Given the description of an element on the screen output the (x, y) to click on. 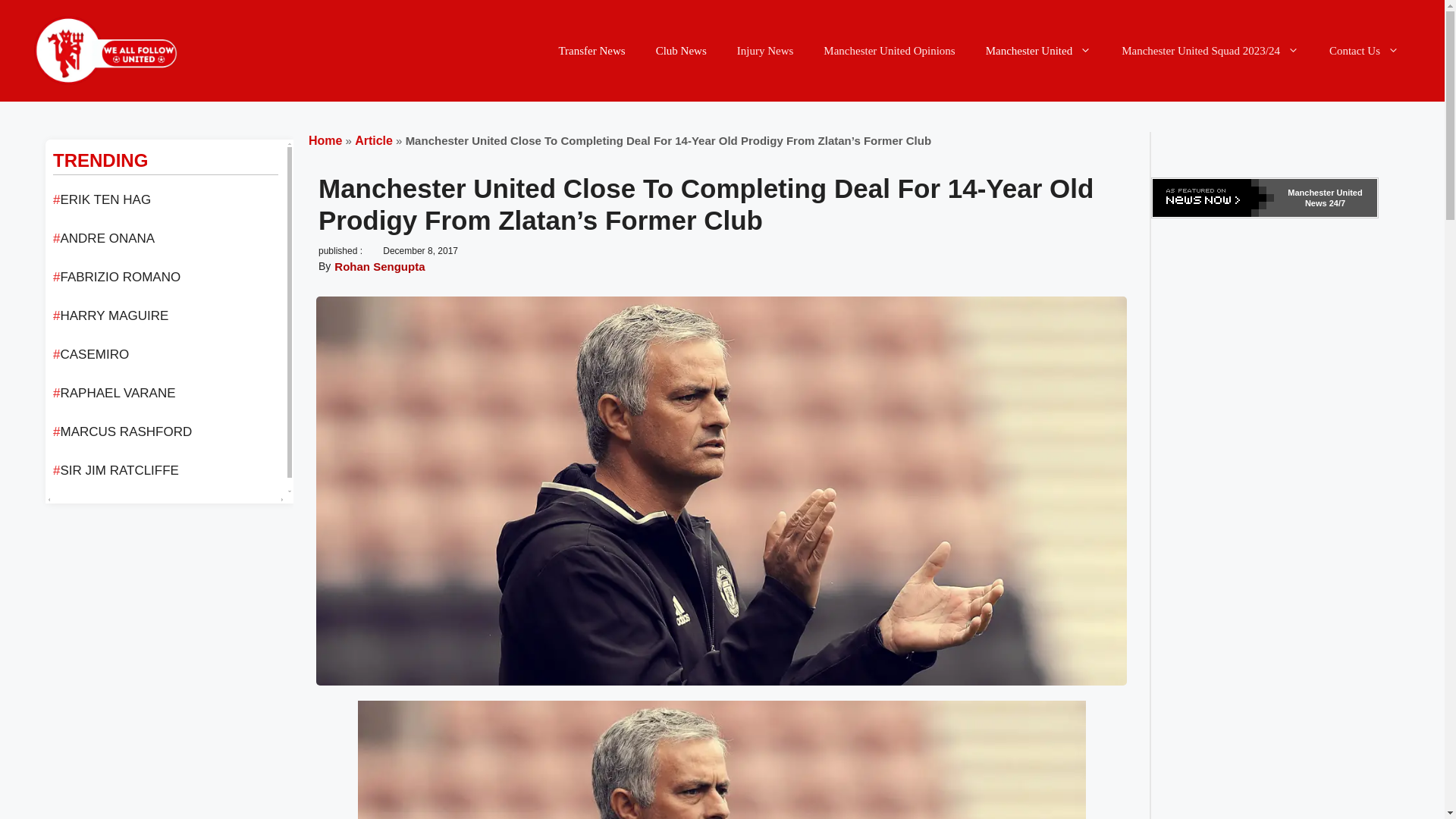
Transfer News (591, 50)
Click here for more Manchester United news from NewsNow (1264, 197)
Manchester United Opinions (888, 50)
Club News (681, 50)
Manchester United (1038, 50)
Injury News (765, 50)
